Given the description of an element on the screen output the (x, y) to click on. 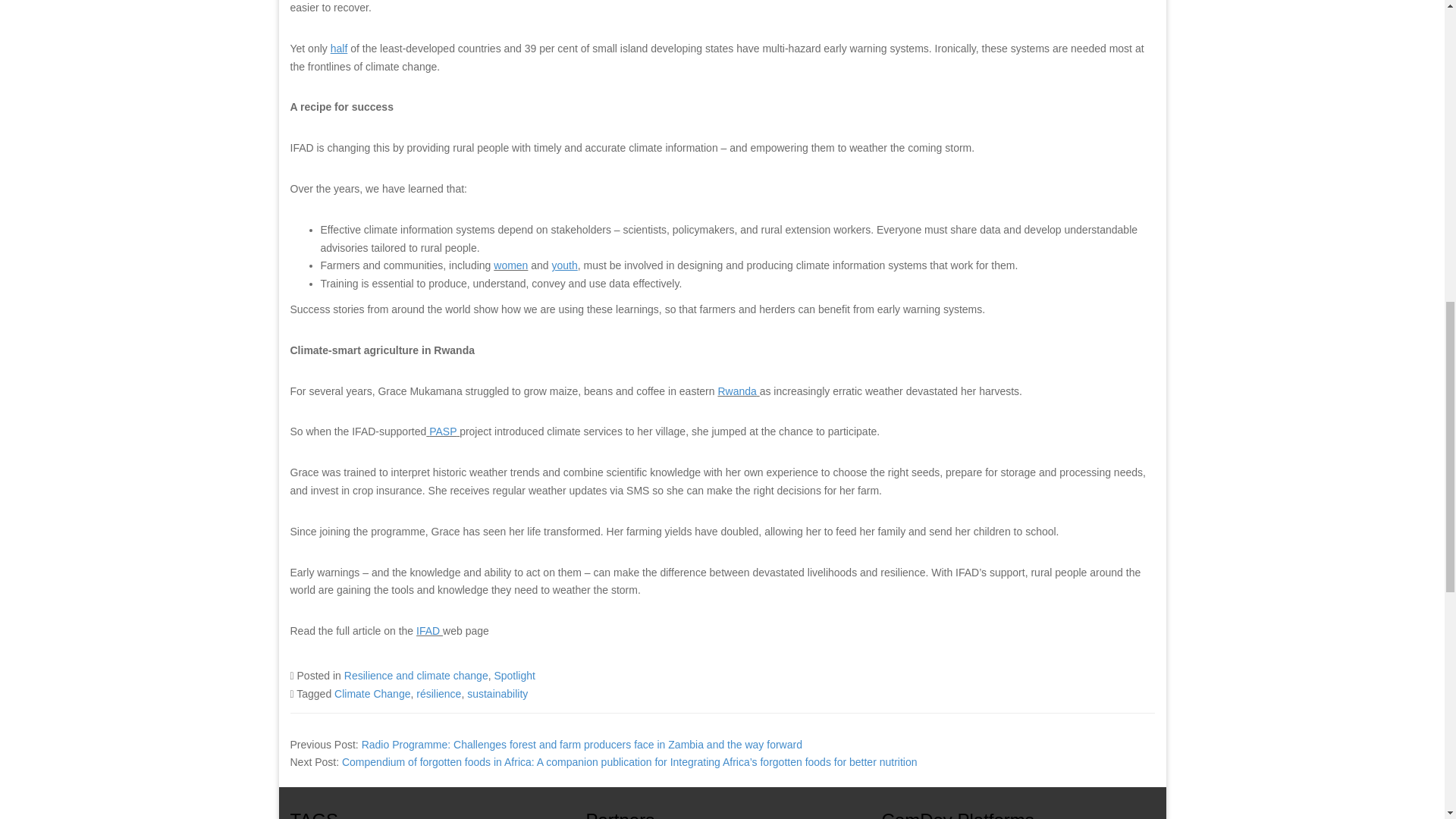
Climate Change (372, 693)
Spotlight (513, 675)
Rwanda (736, 390)
PASP (443, 431)
sustainability (497, 693)
Resilience and climate change (415, 675)
women (510, 265)
youth (564, 265)
IFAD  (429, 630)
half (338, 48)
